Given the description of an element on the screen output the (x, y) to click on. 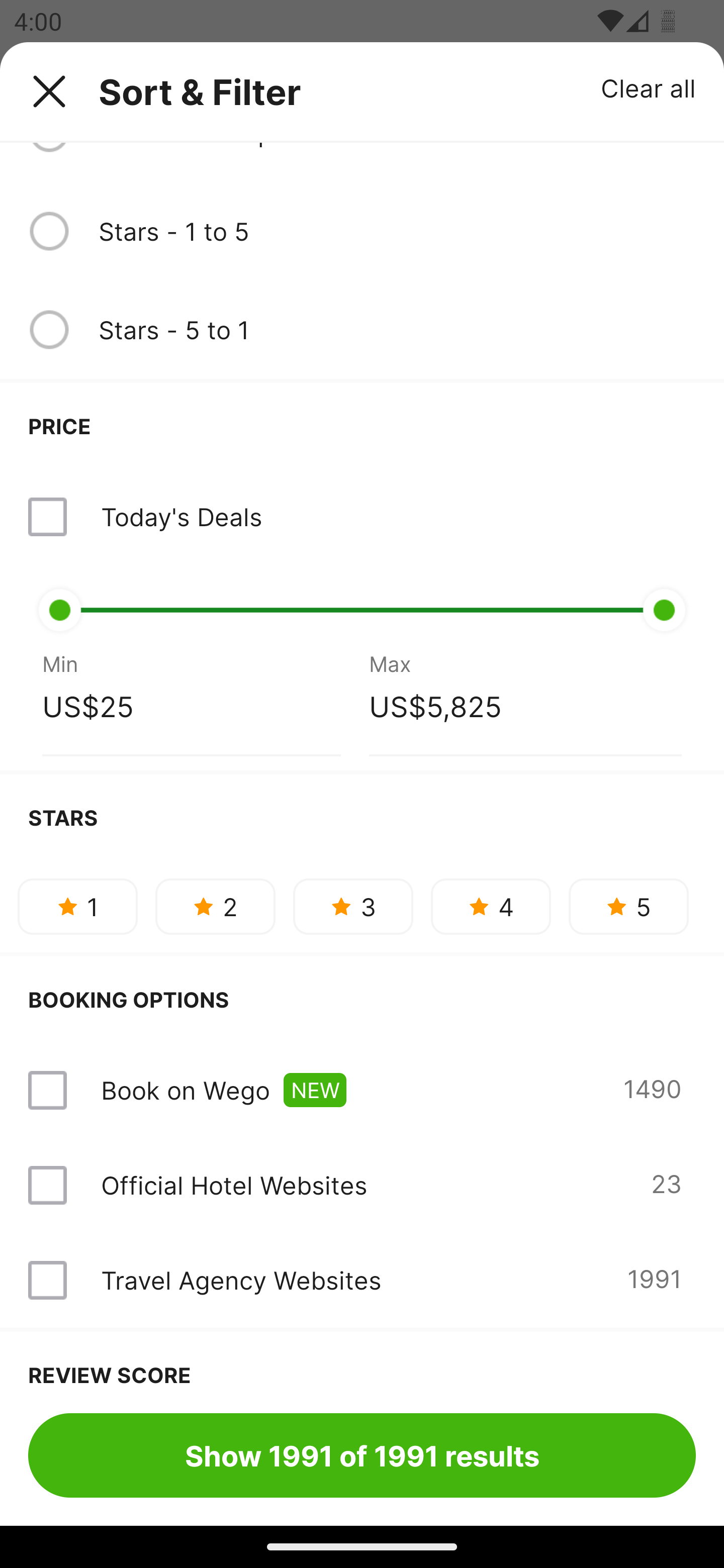
Clear all (648, 87)
Stars - 1 to 5 (396, 231)
Stars - 5 to 1 (396, 329)
Today's Deals (362, 516)
Today's Deals (181, 516)
1 (77, 906)
2 (214, 906)
3 (352, 906)
4 (491, 906)
5 (627, 906)
Book on Wego NEW 1490 (362, 1090)
Book on Wego (184, 1089)
Official Hotel Websites 23 (362, 1185)
Official Hotel Websites (233, 1185)
Travel Agency Websites 1991 (362, 1280)
Travel Agency Websites (240, 1280)
Show 1991 of 1991 results (361, 1454)
